Given the description of an element on the screen output the (x, y) to click on. 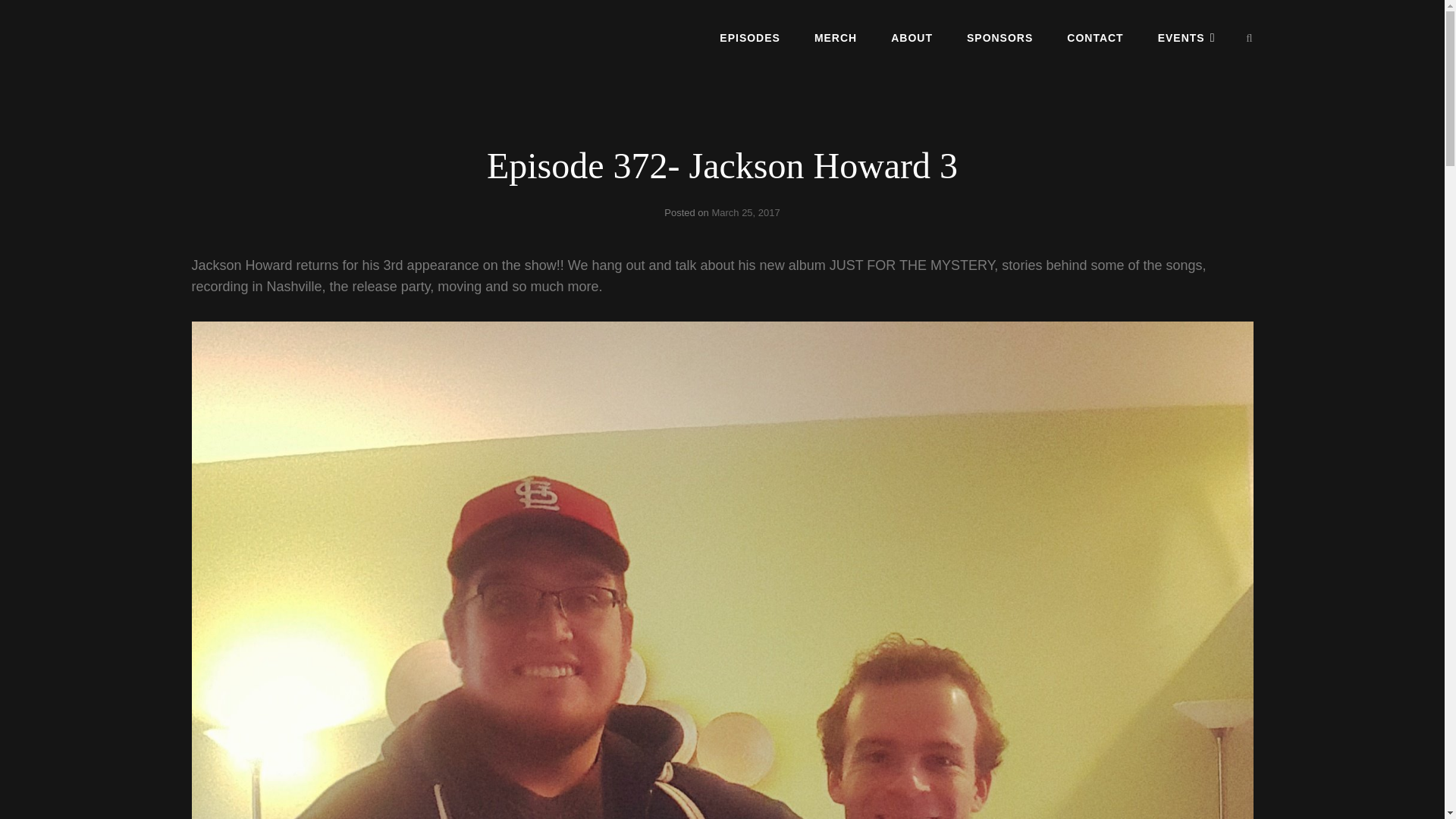
March 25, 2017 (744, 212)
EVENTS (1186, 37)
SEARCH (1249, 37)
EPISODES (749, 37)
MERCH (835, 37)
ABOUT (911, 37)
CONTACT (1094, 37)
SPONSORS (1000, 37)
ROCK PAPER PODCAST (304, 50)
